Given the description of an element on the screen output the (x, y) to click on. 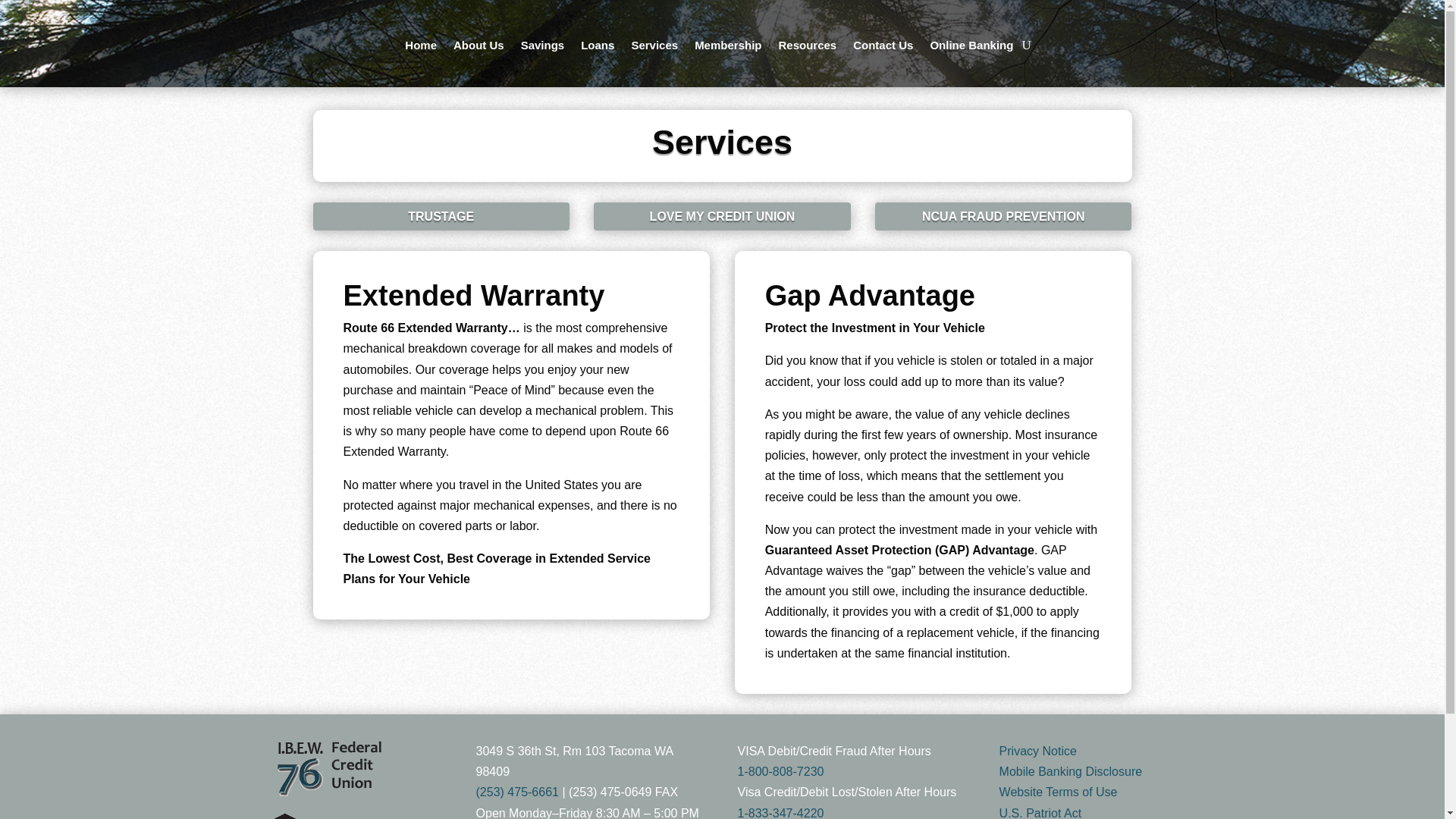
Membership (727, 45)
Resources (806, 45)
U.S. Patriot Act (1039, 812)
Contact Us (882, 45)
Mobile Banking Disclosure (1070, 771)
TRUSTAGE (441, 216)
1-833-347-4220 (781, 812)
Website Terms of Use (1058, 791)
Online Banking (971, 45)
LOVE MY CREDIT UNION (722, 216)
